Given the description of an element on the screen output the (x, y) to click on. 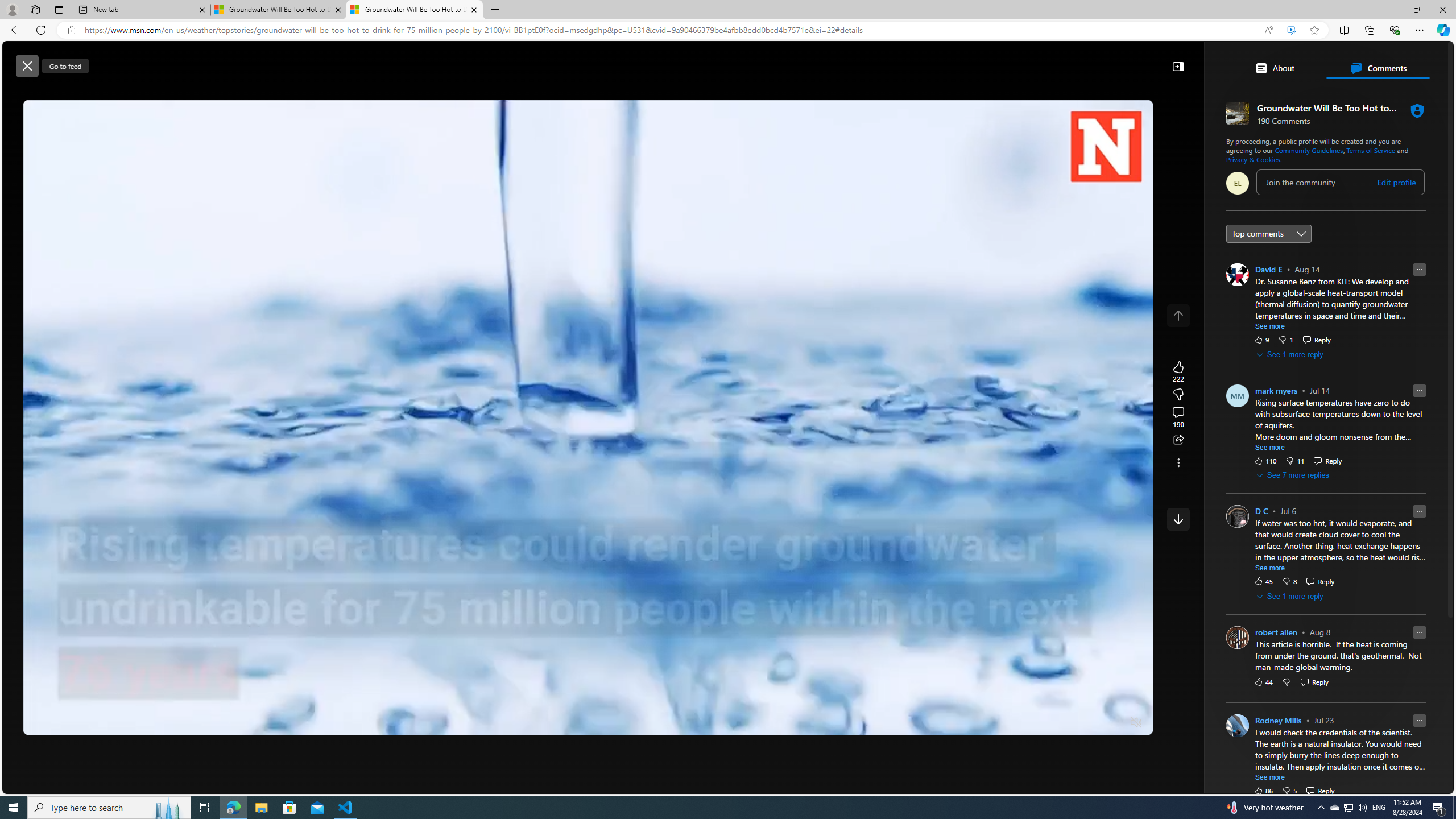
See 7 more replies (1294, 475)
Web search (526, 60)
Discover (327, 92)
Share this story (1178, 440)
Watch (421, 92)
Dislike (1288, 790)
Ad Choice (1305, 601)
Skip to content (49, 59)
Report comment (1419, 720)
Unmute (1136, 722)
